Given the description of an element on the screen output the (x, y) to click on. 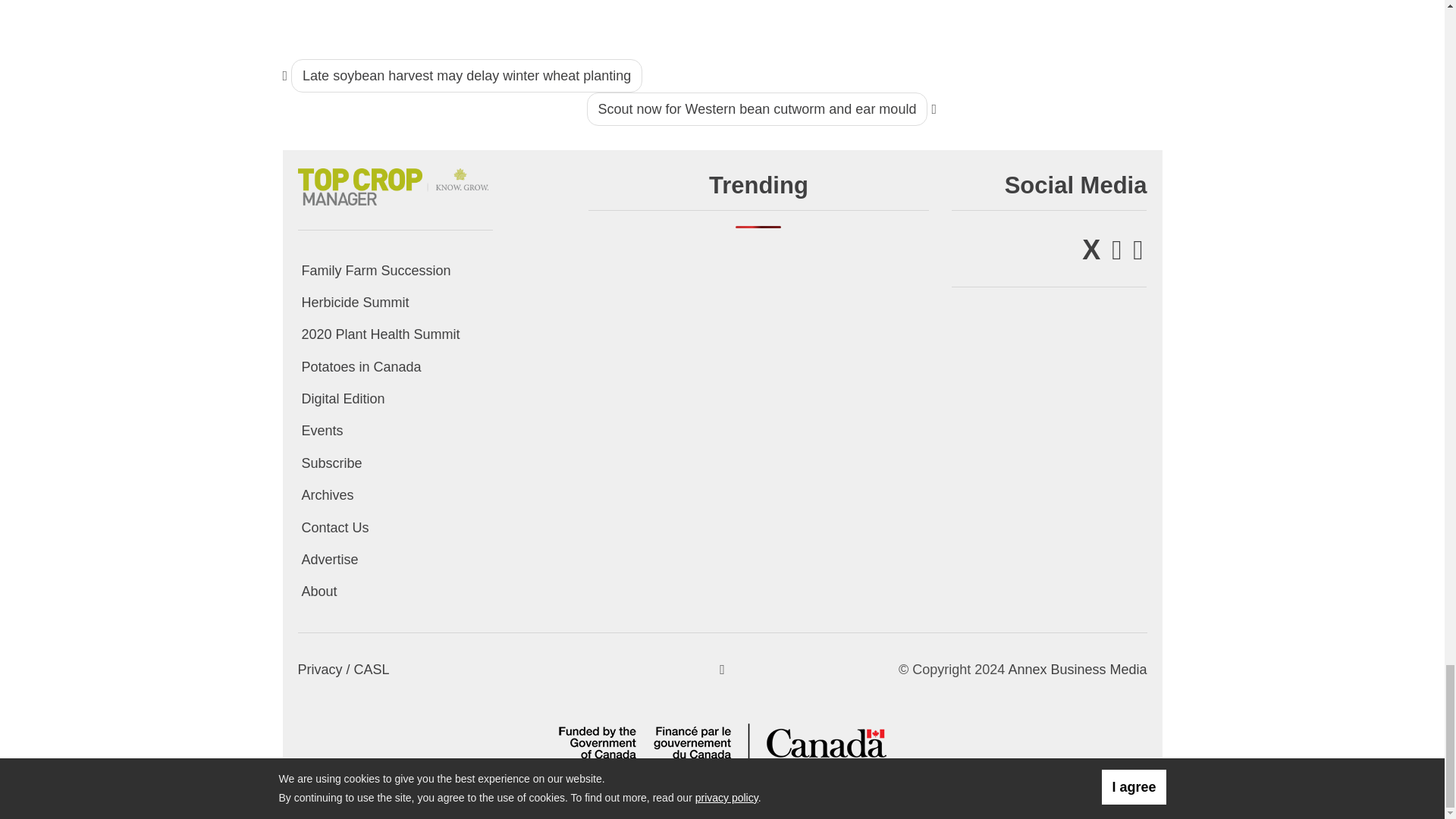
Annex Business Media (1077, 669)
scroll to top (722, 669)
Top Crop Manager (395, 183)
